Given the description of an element on the screen output the (x, y) to click on. 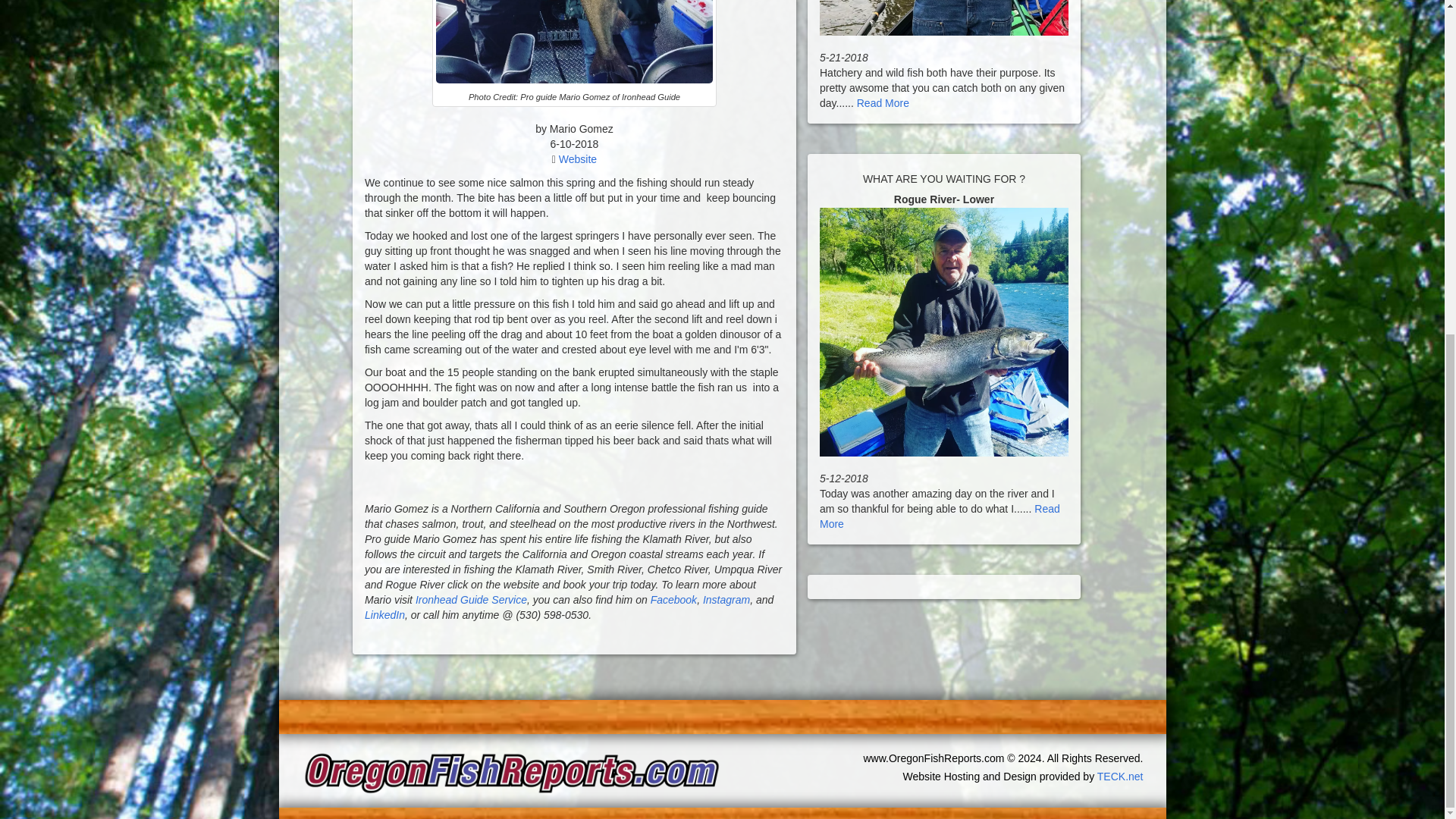
Read More (939, 515)
LinkedIn (384, 614)
TECK.net (1119, 776)
Facebook (673, 599)
Read More (882, 102)
Instagram (726, 599)
Website (577, 159)
Ironhead Guide Service (470, 599)
